Given the description of an element on the screen output the (x, y) to click on. 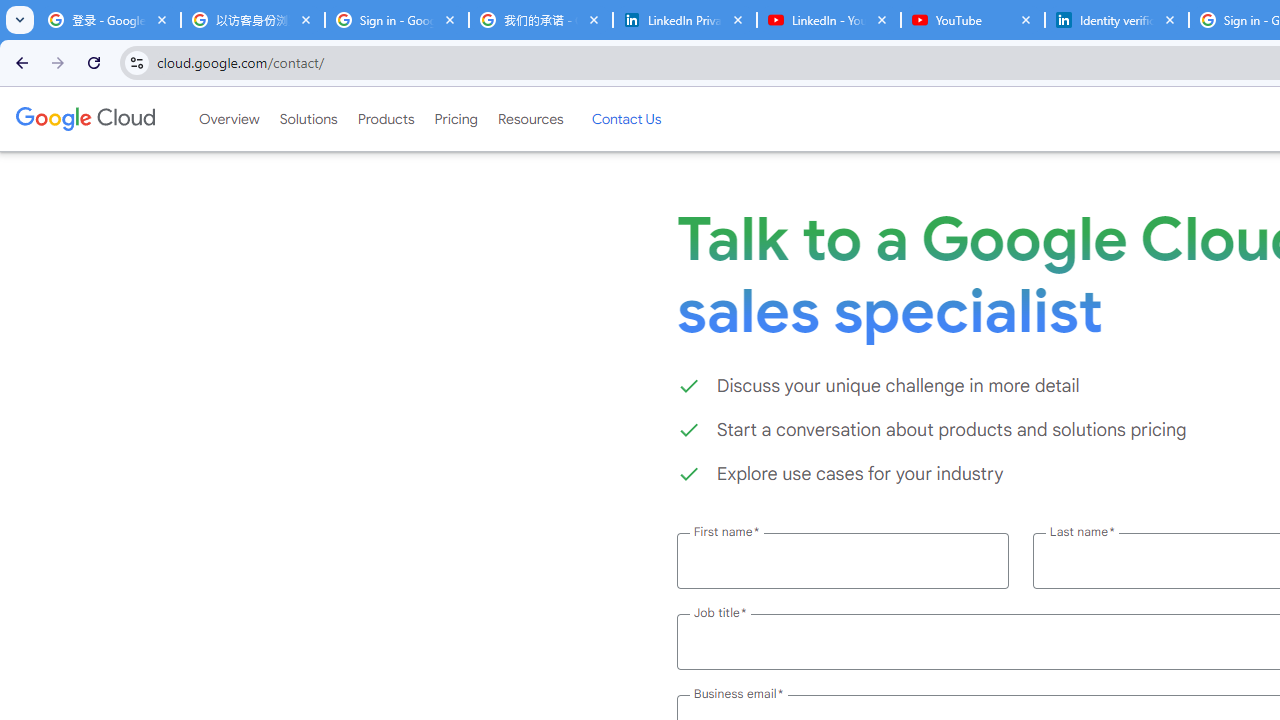
Contact Us (626, 119)
Resources (530, 119)
YouTube (972, 20)
Products (385, 119)
Solutions (308, 119)
